Given the description of an element on the screen output the (x, y) to click on. 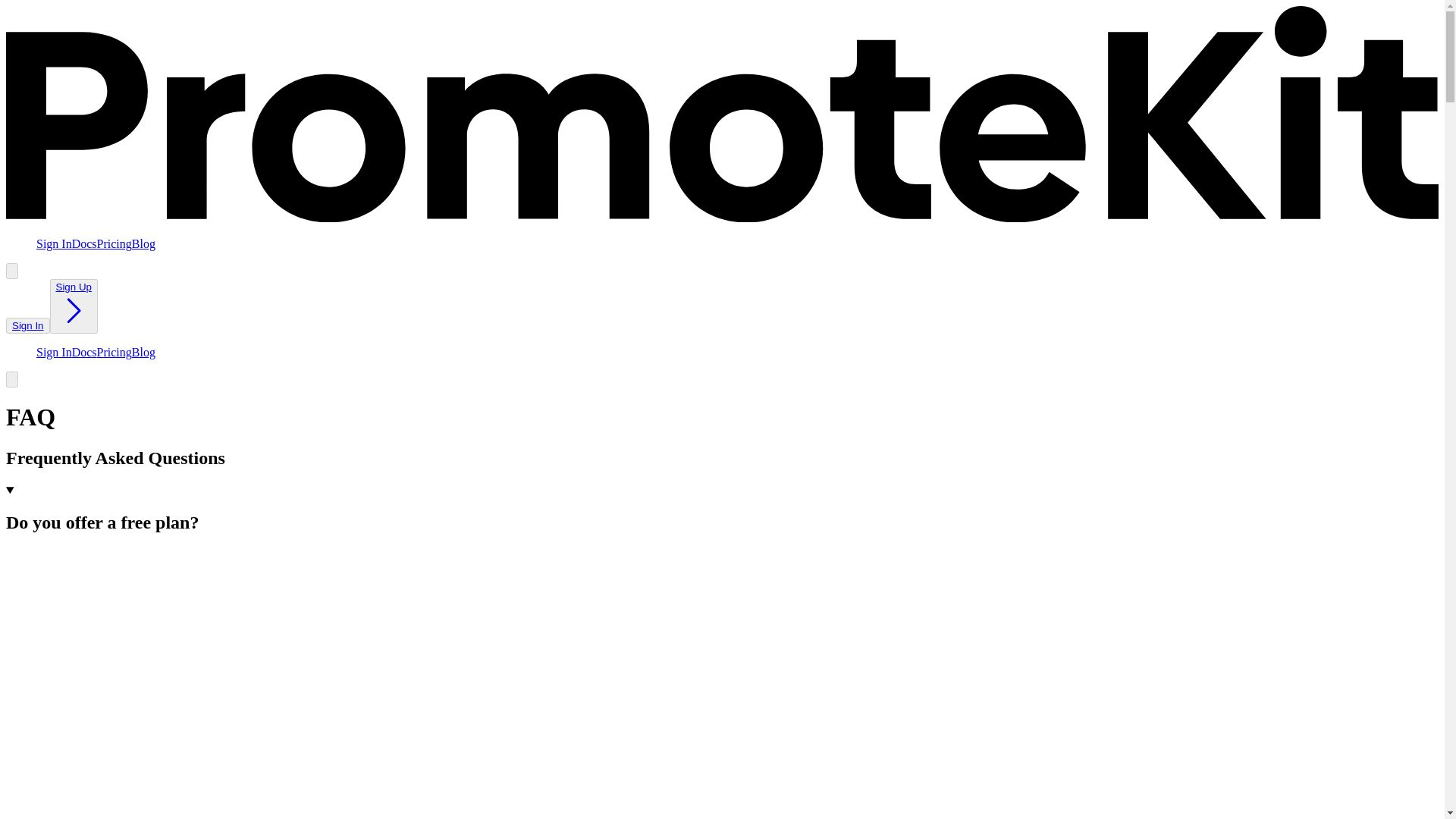
Sign In (27, 325)
Sign In (53, 351)
Pricing (114, 243)
Sign In (27, 325)
Docs (84, 243)
Blog (143, 351)
Docs (84, 351)
Blog (143, 243)
Pricing (114, 351)
Sign In (53, 243)
